Given the description of an element on the screen output the (x, y) to click on. 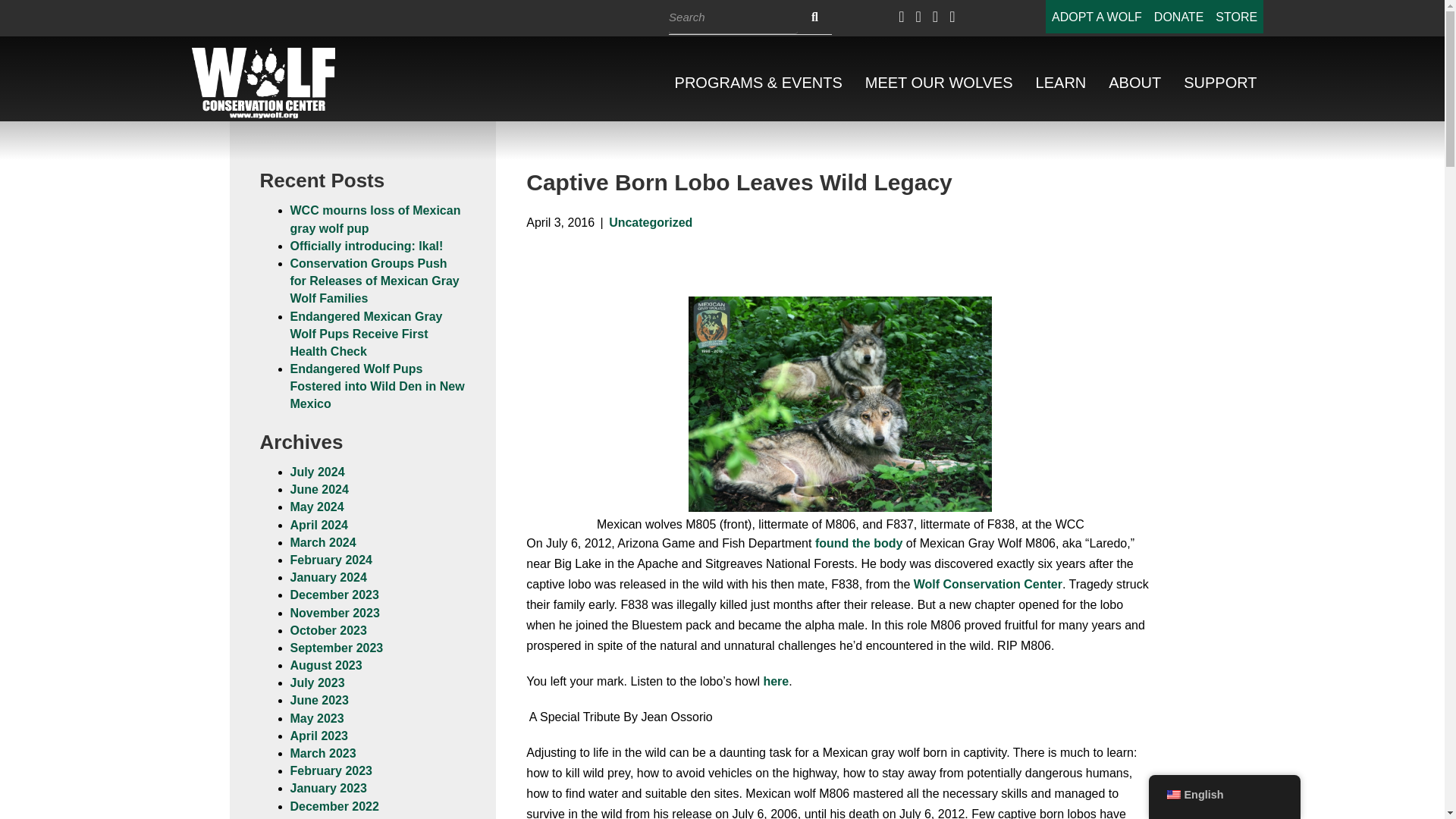
English (1172, 794)
Wcc Logo White (264, 82)
STORE (1236, 16)
Search (732, 17)
ADOPT A WOLF (1096, 16)
MEET OUR WOLVES (939, 82)
DONATE (1178, 16)
LEARN (1061, 82)
